Given the description of an element on the screen output the (x, y) to click on. 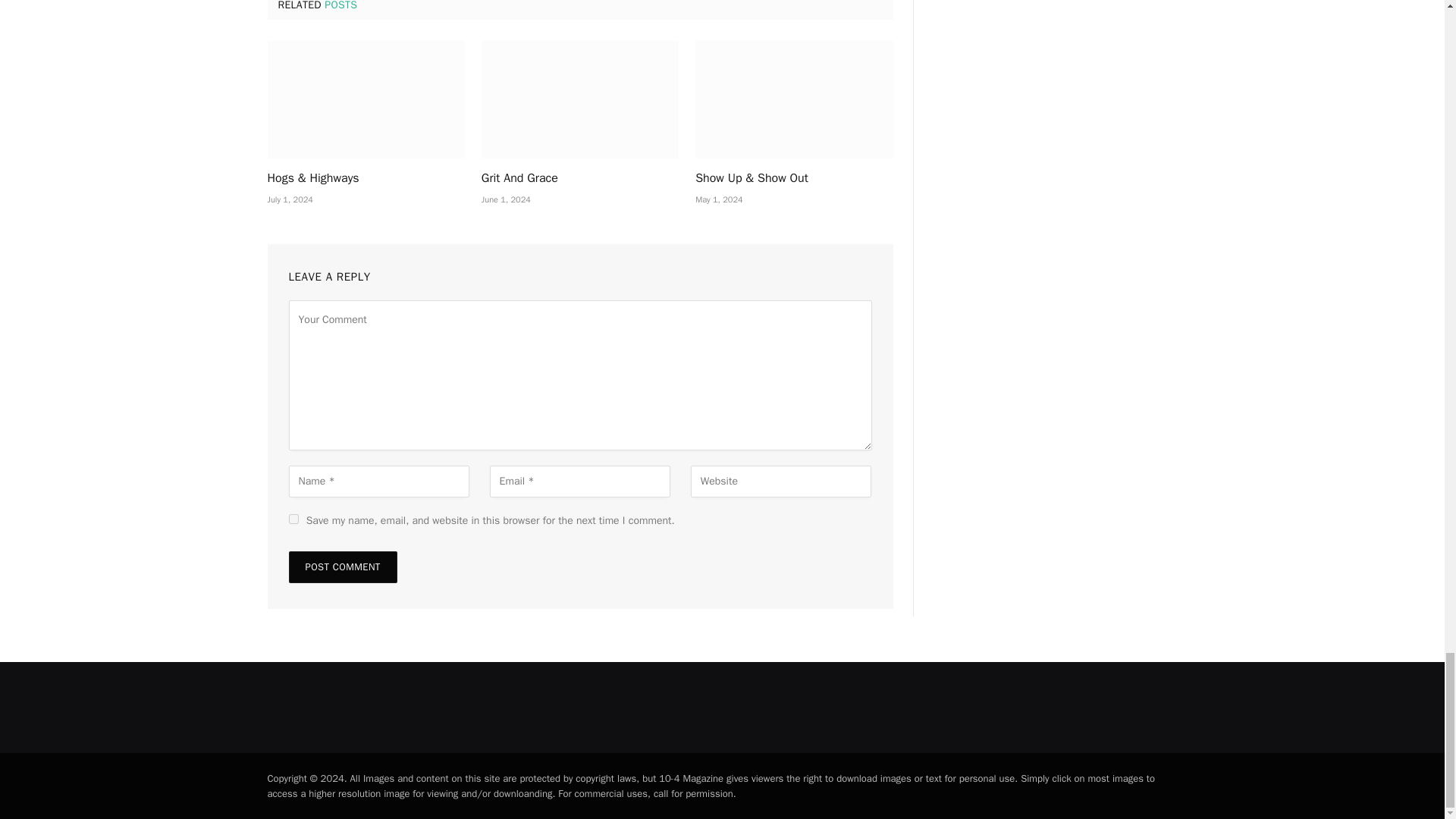
Post Comment (342, 567)
yes (293, 519)
